Given the description of an element on the screen output the (x, y) to click on. 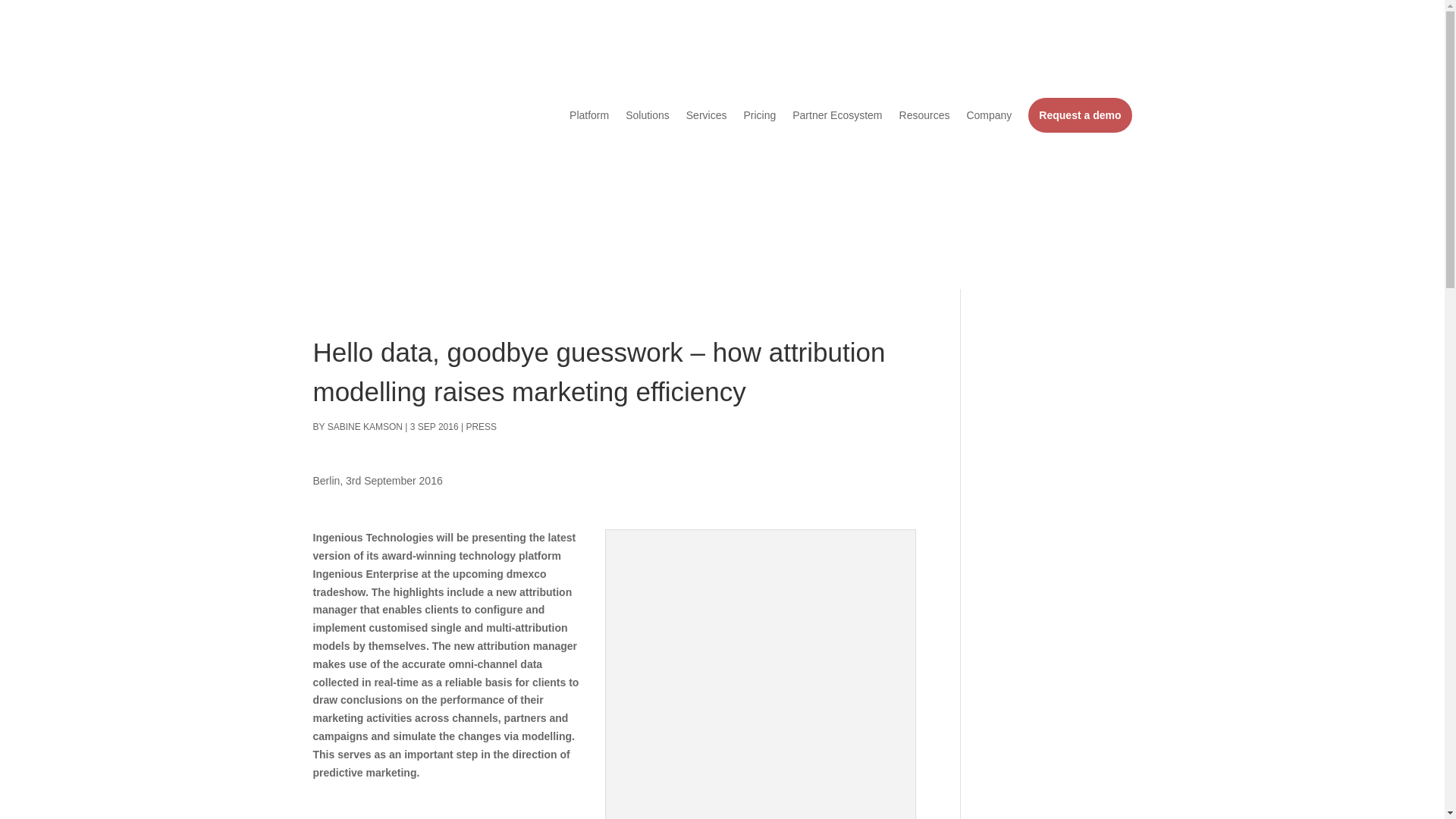
SABINE KAMSON (365, 426)
PRESS (480, 426)
Posts by Sabine Kamson (365, 426)
Partner Ecosystem (837, 115)
Request a demo (1079, 114)
